Given the description of an element on the screen output the (x, y) to click on. 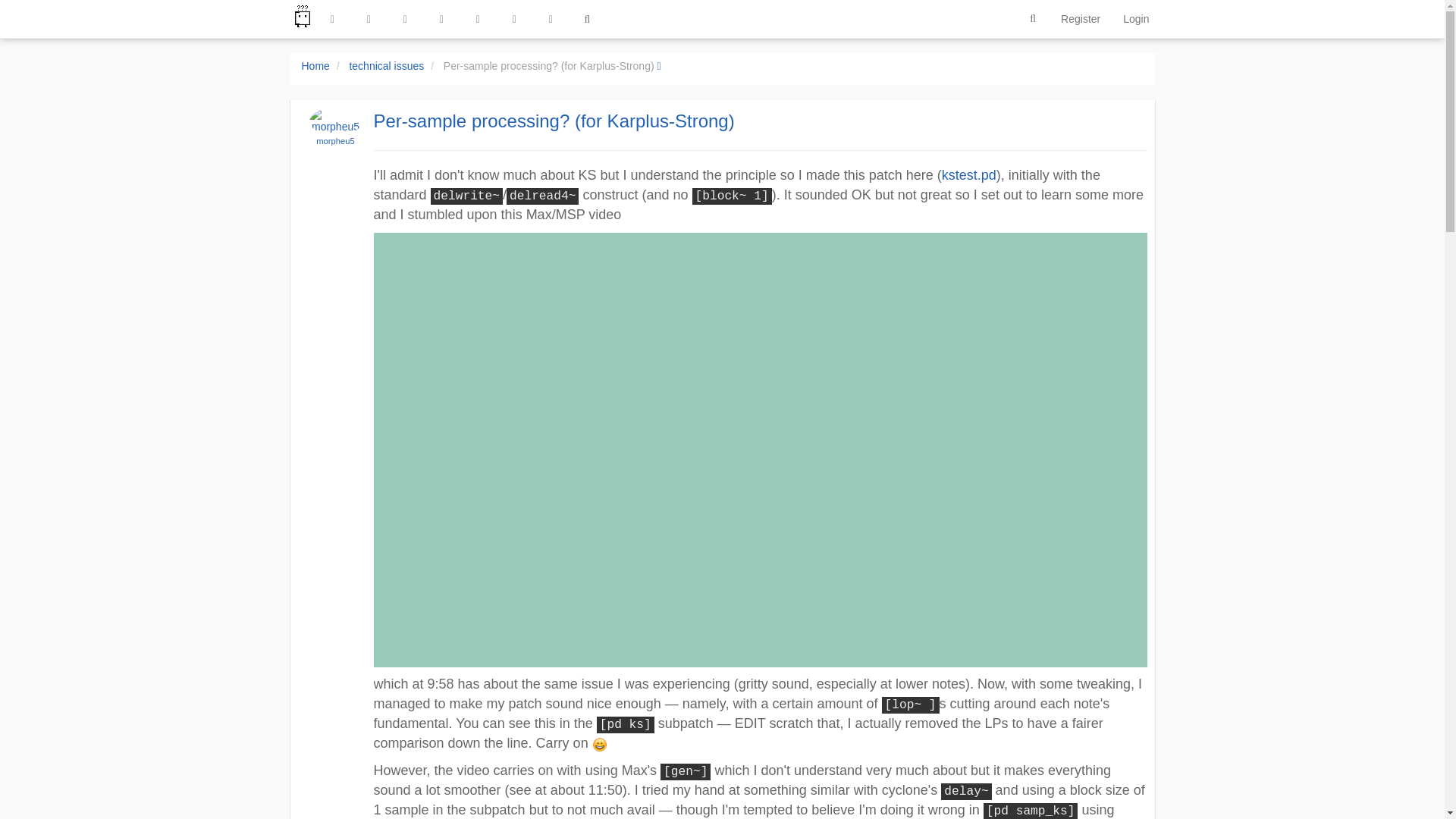
morpheu5 (335, 141)
Register (1080, 18)
morpheu5 (334, 140)
Login (1136, 18)
technical issues (386, 65)
Search (1032, 18)
kstest.pd (968, 174)
Home (315, 65)
